Given the description of an element on the screen output the (x, y) to click on. 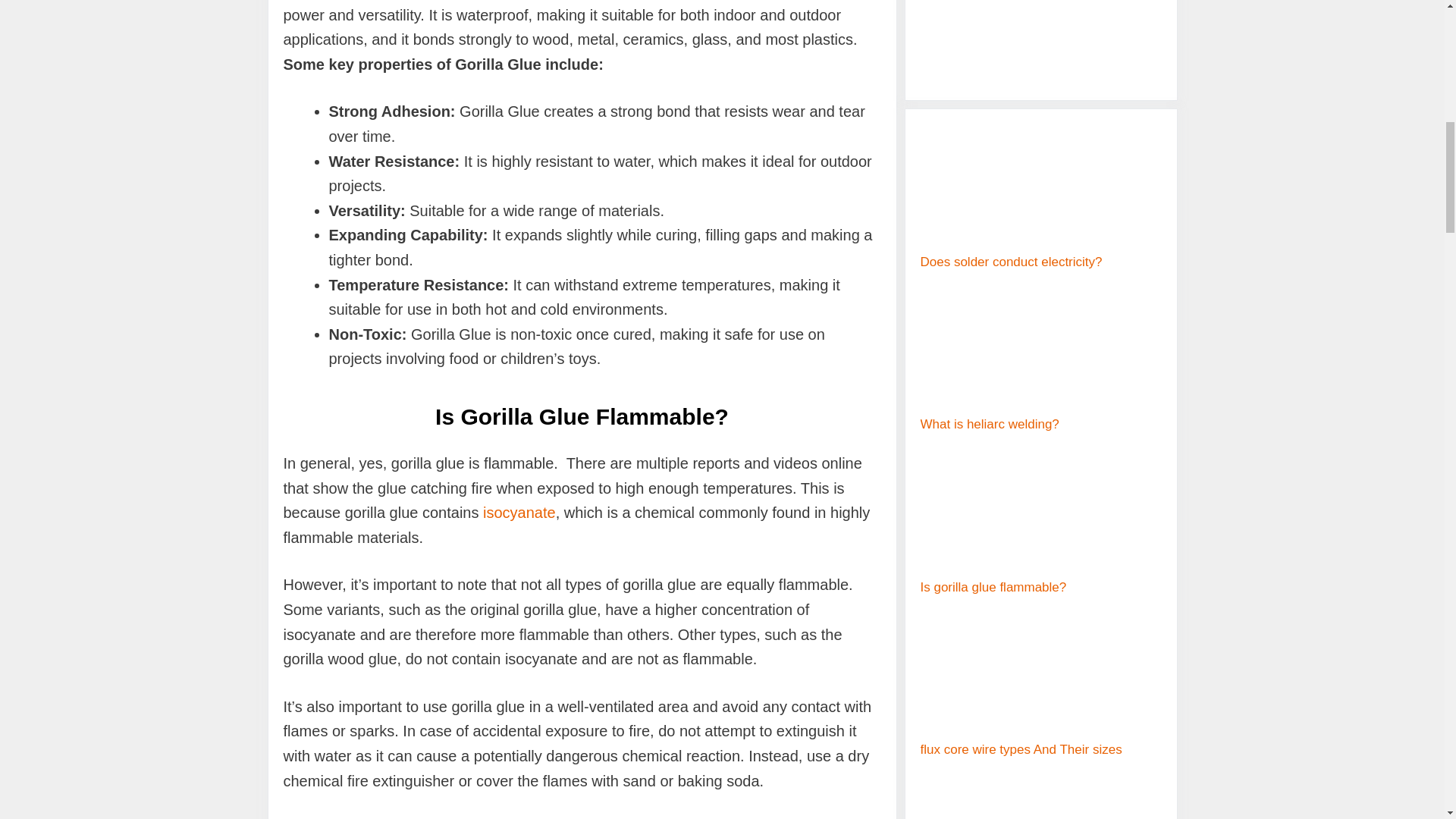
isocyanate (519, 512)
Does solder conduct electricity? (1011, 261)
flux core wire types And Their sizes (1021, 749)
Is gorilla glue flammable? (993, 586)
What is heliarc welding? (989, 423)
Scroll back to top (1406, 720)
